Given the description of an element on the screen output the (x, y) to click on. 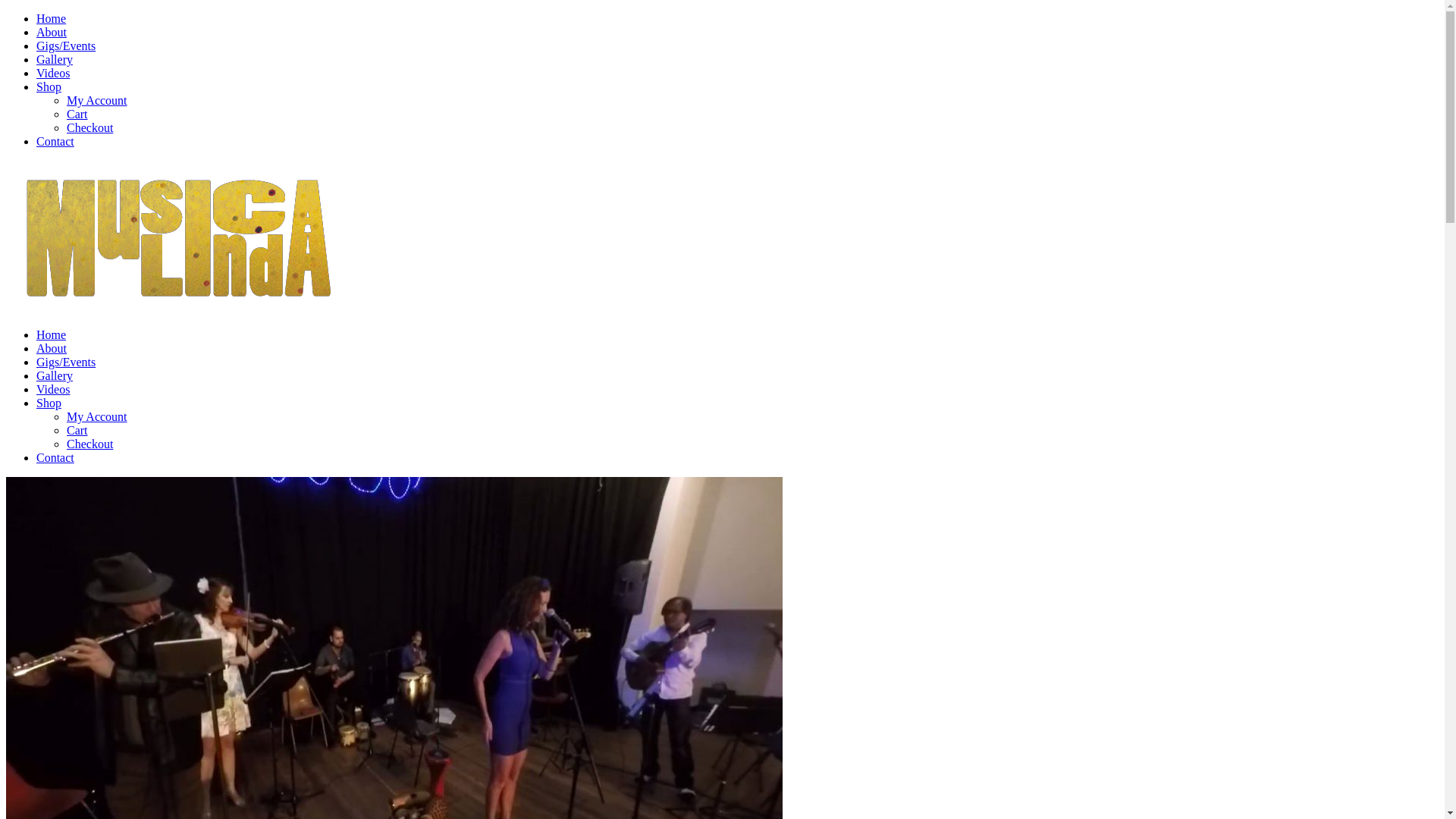
Shop Element type: text (48, 402)
Videos Element type: text (52, 72)
Gigs/Events Element type: text (65, 361)
Cart Element type: text (76, 113)
Cart Element type: text (76, 429)
About Element type: text (51, 31)
My Account Element type: text (96, 100)
Checkout Element type: text (89, 127)
Home Element type: text (50, 18)
Gallery Element type: text (54, 59)
Checkout Element type: text (89, 443)
Contact Element type: text (55, 140)
My Account Element type: text (96, 416)
About Element type: text (51, 348)
Videos Element type: text (52, 388)
Contact Element type: text (55, 457)
Gallery Element type: text (54, 375)
Gigs/Events Element type: text (65, 45)
Shop Element type: text (48, 86)
Home Element type: text (50, 334)
